Given the description of an element on the screen output the (x, y) to click on. 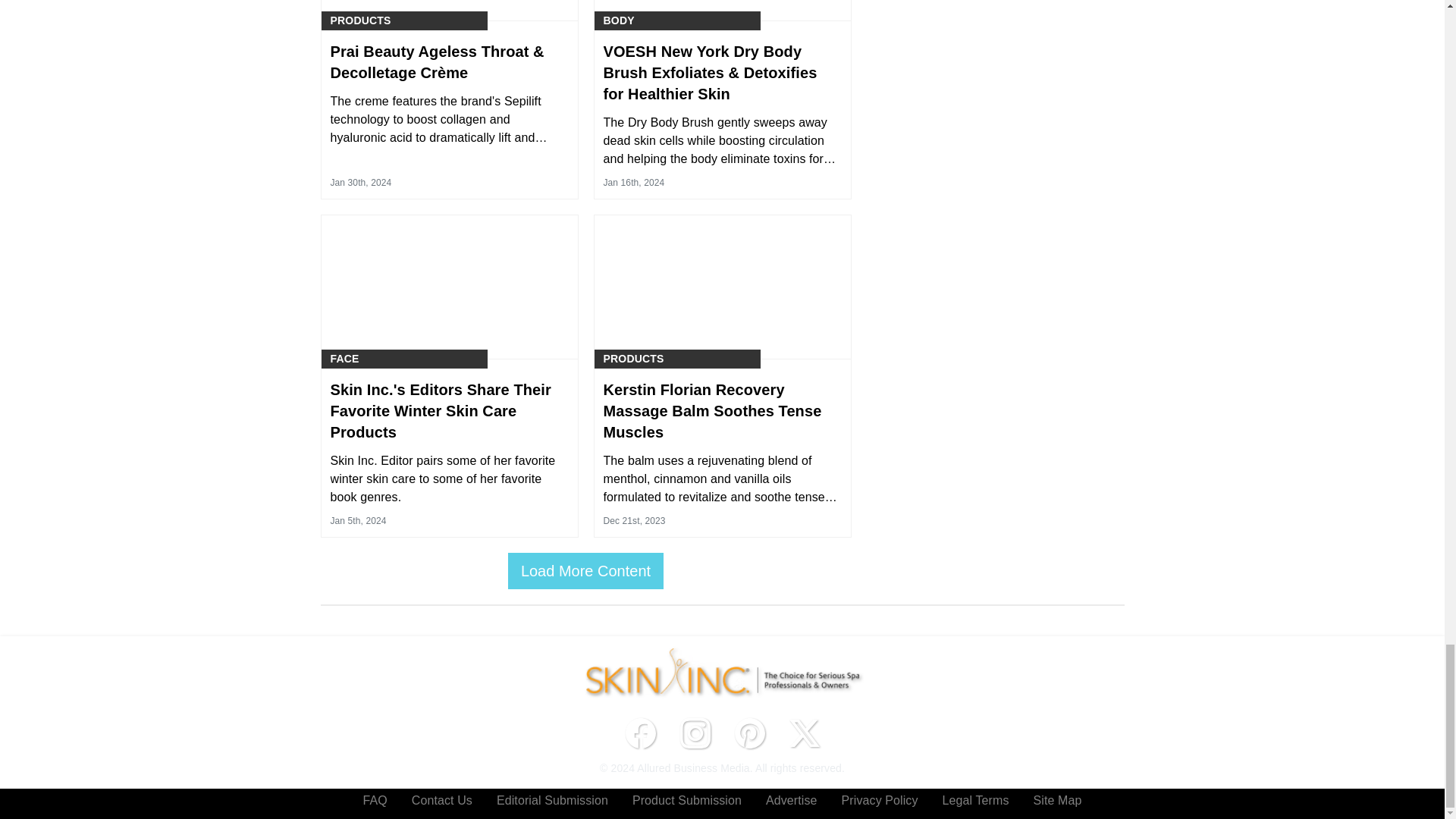
Pinterest icon (748, 733)
Instagram icon (694, 733)
Facebook icon (639, 733)
Twitter X icon (803, 733)
